Given the description of an element on the screen output the (x, y) to click on. 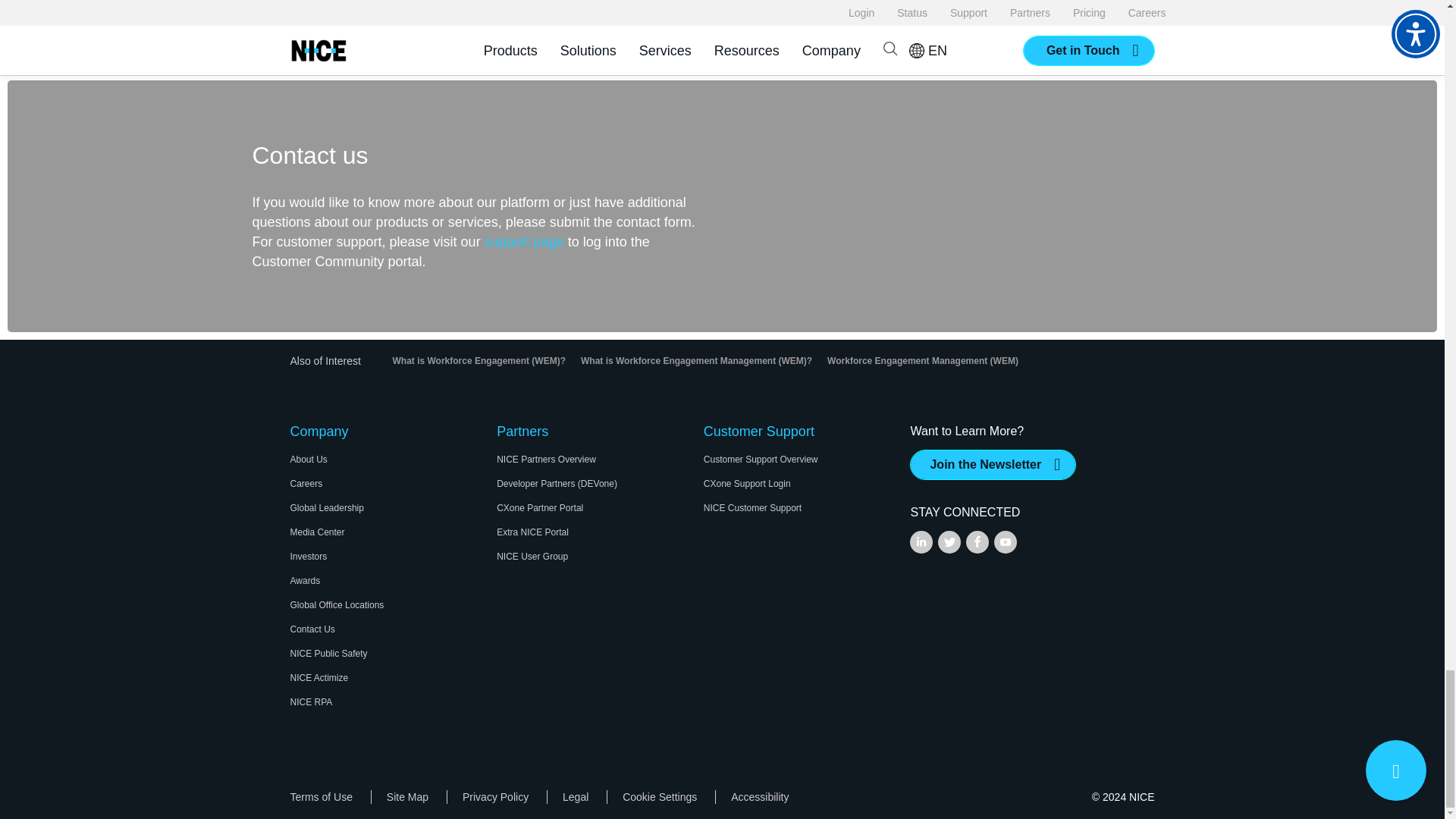
LinkedIn (921, 541)
